Given the description of an element on the screen output the (x, y) to click on. 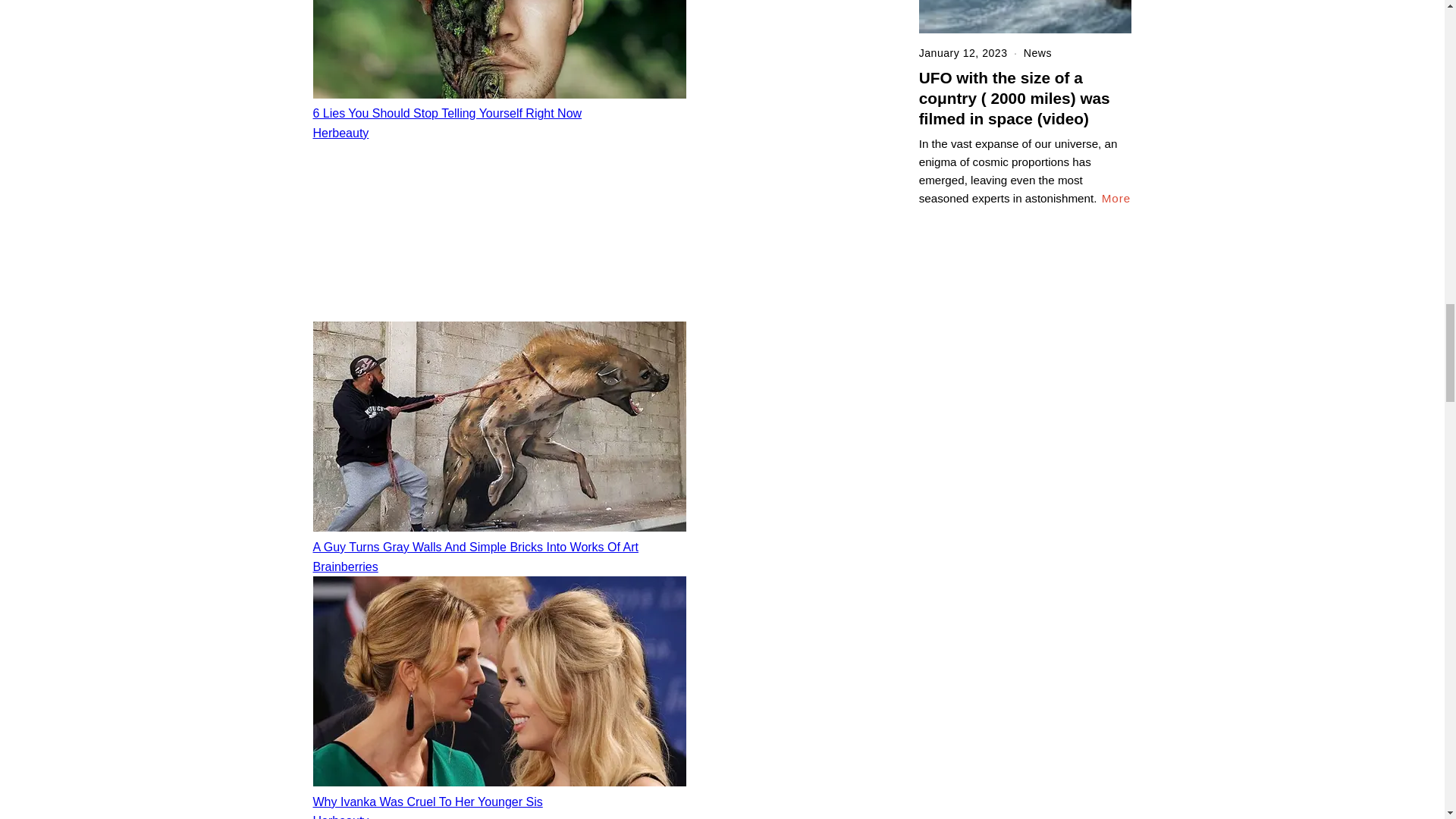
News (1037, 52)
More (1116, 198)
